Given the description of an element on the screen output the (x, y) to click on. 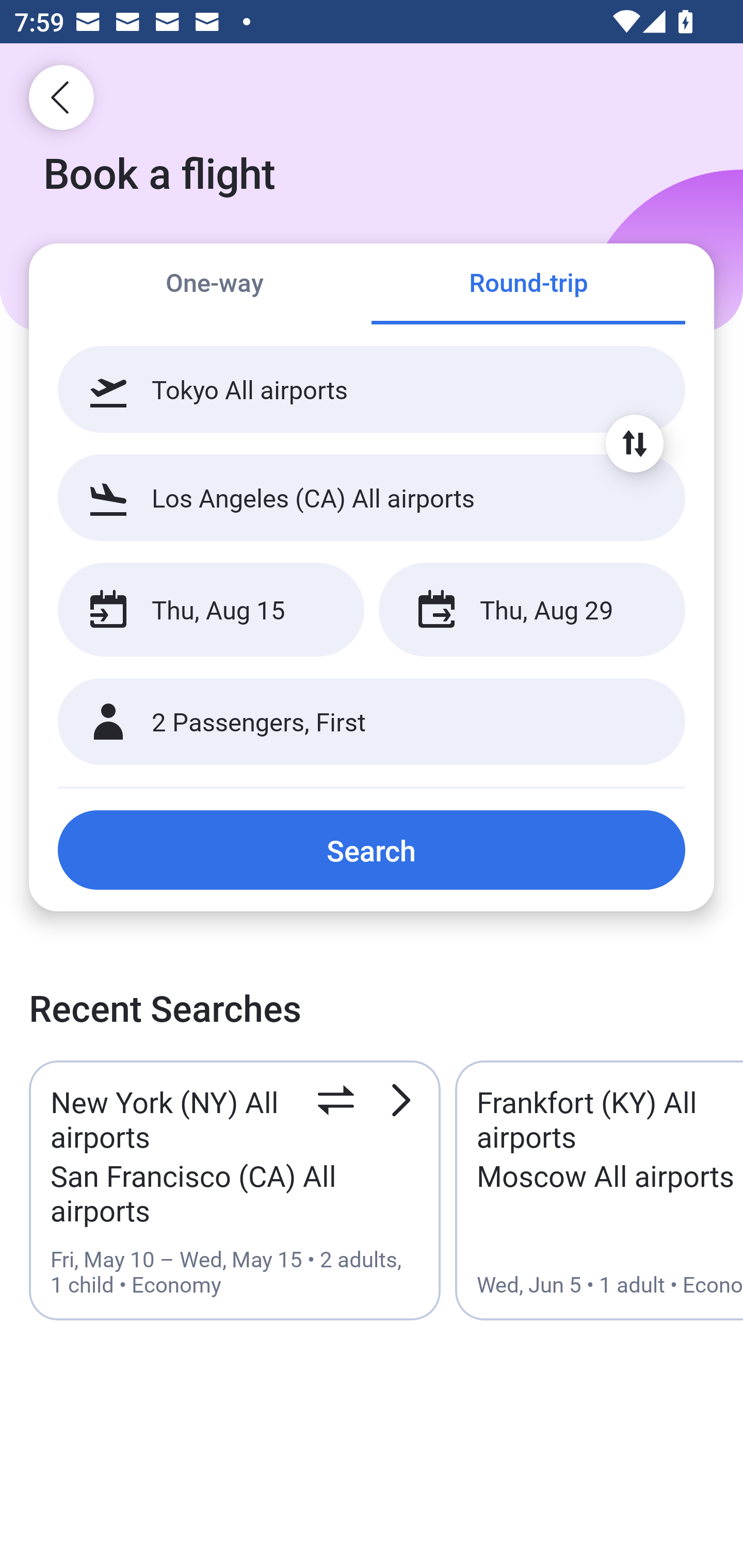
One-way (214, 284)
Tokyo All airports (371, 389)
Los Angeles (CA) All airports (371, 497)
Thu, Aug 15 (210, 609)
Thu, Aug 29 (531, 609)
2 Passengers, First (371, 721)
Search (371, 849)
